Given the description of an element on the screen output the (x, y) to click on. 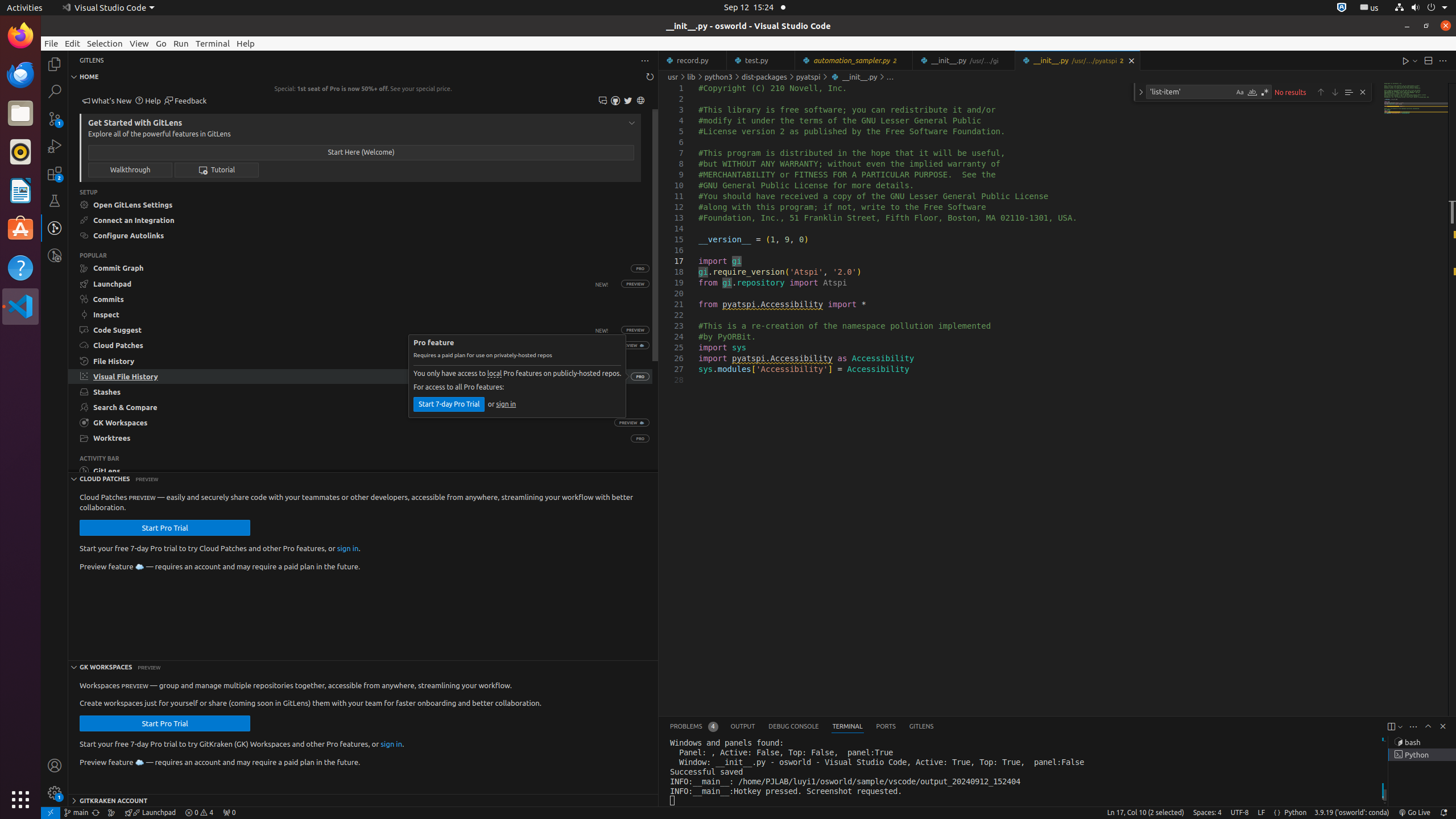
Show Cloud Patches view Element type: link (340, 345)
Terminal Element type: push-button (212, 43)
Split Terminal (Ctrl+Shift+5) Element type: push-button (1390, 726)
Use Regular Expression (Alt+R) Element type: check-box (1264, 91)
Show Visual File History view Element type: link (348, 375)
